Given the description of an element on the screen output the (x, y) to click on. 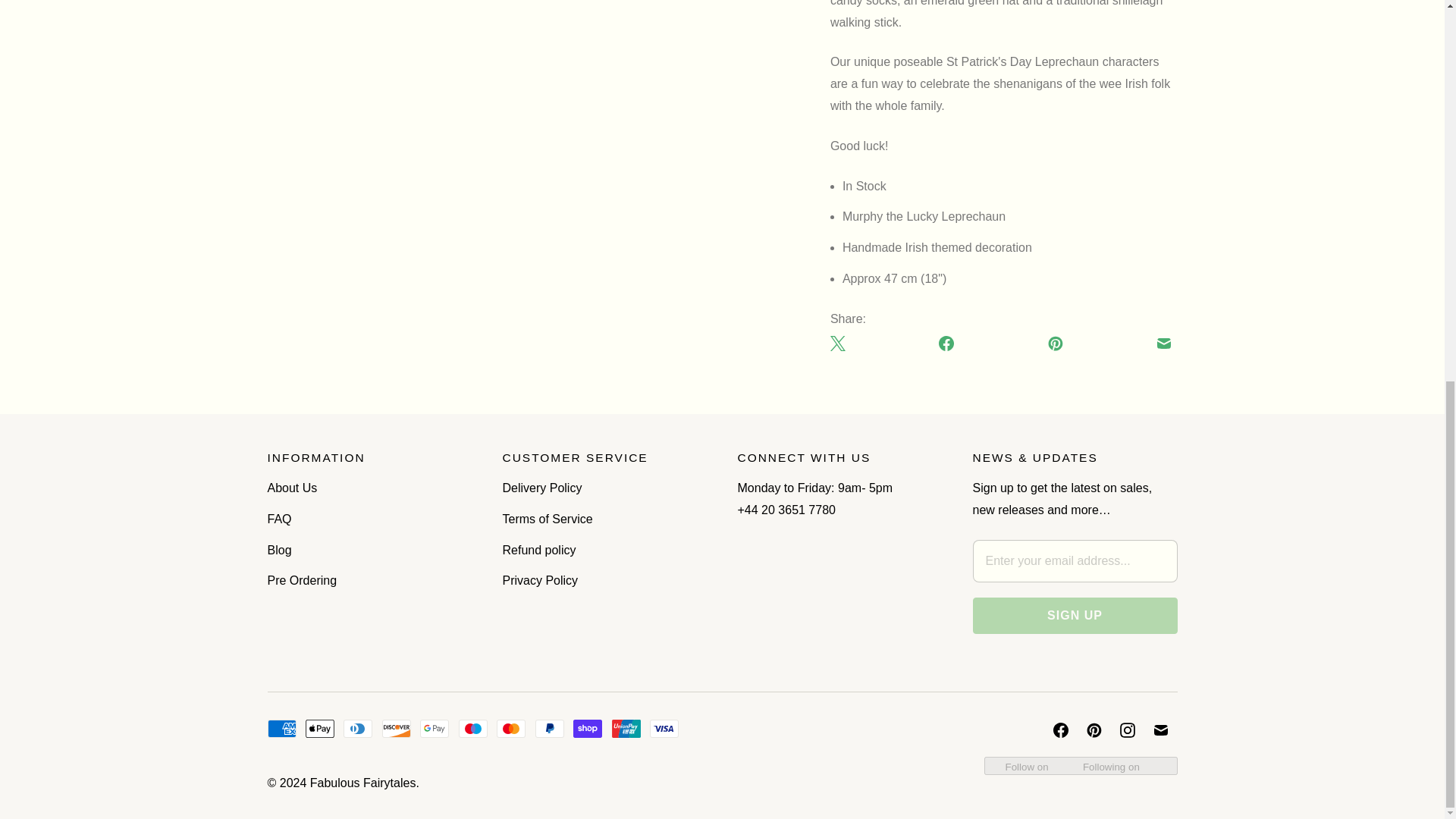
Sign Up (1074, 615)
American Express (280, 728)
Share on X (839, 343)
Diners Club (357, 728)
Apple Pay (319, 728)
Mastercard (510, 728)
Discover (395, 728)
Shop Pay (587, 728)
PayPal (549, 728)
Maestro (472, 728)
Share this on Facebook (946, 343)
Google Pay (434, 728)
Email this to a friend (1163, 343)
Share this on Pinterest (1055, 343)
